Given the description of an element on the screen output the (x, y) to click on. 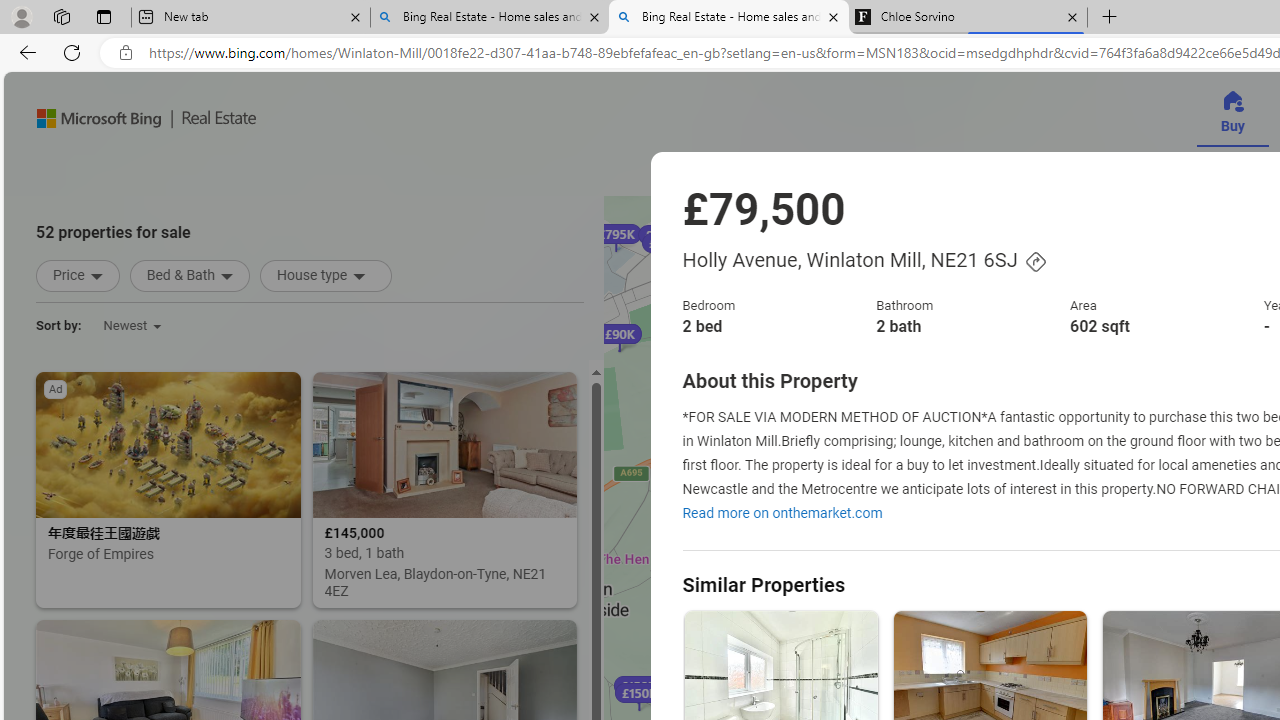
Chloe Sorvino (967, 17)
Bing Real Estate - Home sales and rental listings (729, 17)
